Given the description of an element on the screen output the (x, y) to click on. 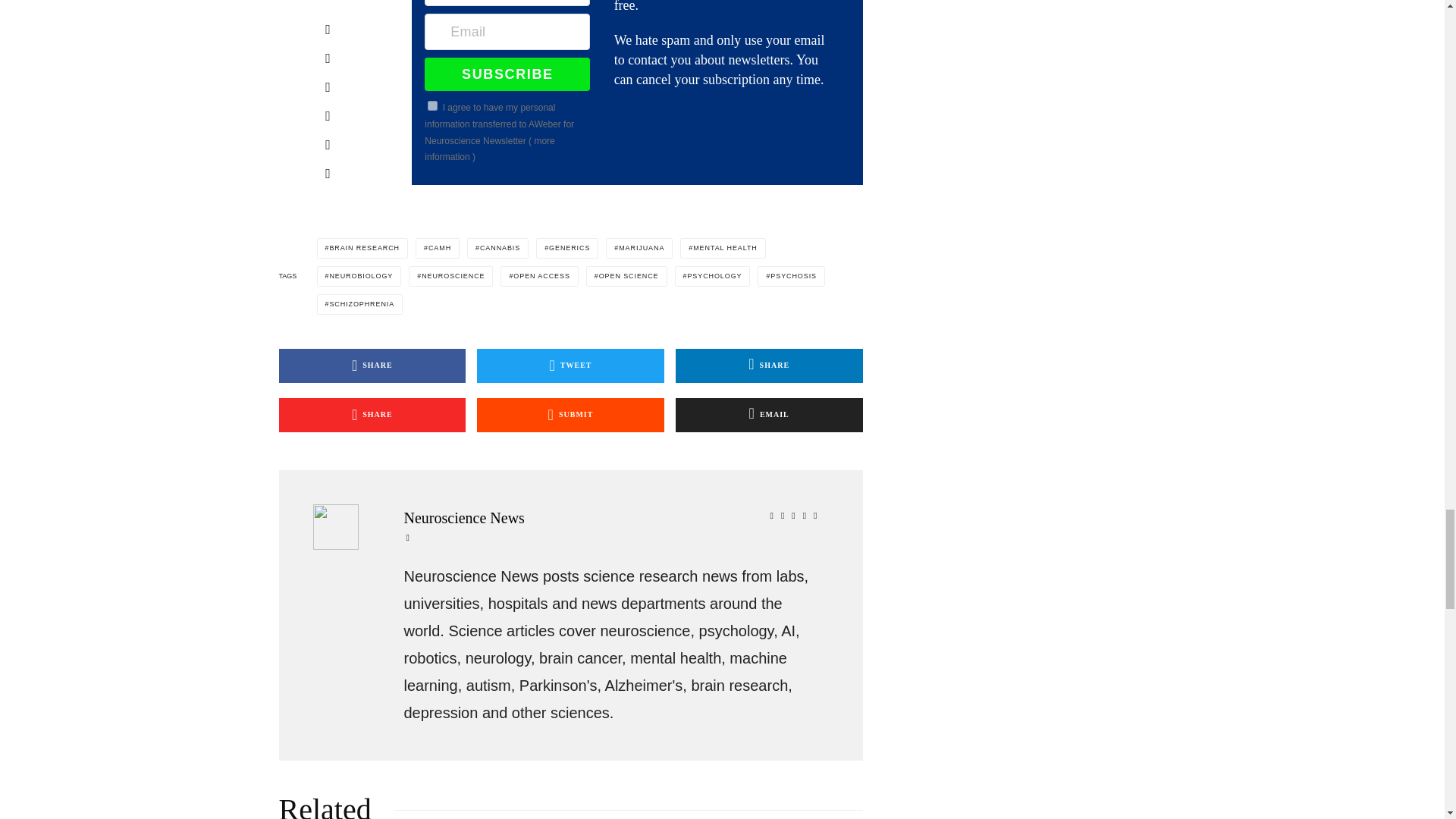
GENERICS (566, 248)
OPEN SCIENCE (626, 276)
SHARE (372, 415)
NEUROSCIENCE (451, 276)
SUBSCRIBE (507, 73)
SHARE (769, 365)
TWEET (570, 365)
OPEN ACCESS (539, 276)
PSYCHOLOGY (713, 276)
BRAIN RESEARCH (363, 248)
MENTAL HEALTH (722, 248)
MARIJUANA (638, 248)
PSYCHOSIS (791, 276)
CANNABIS (497, 248)
on (433, 105)
